Given the description of an element on the screen output the (x, y) to click on. 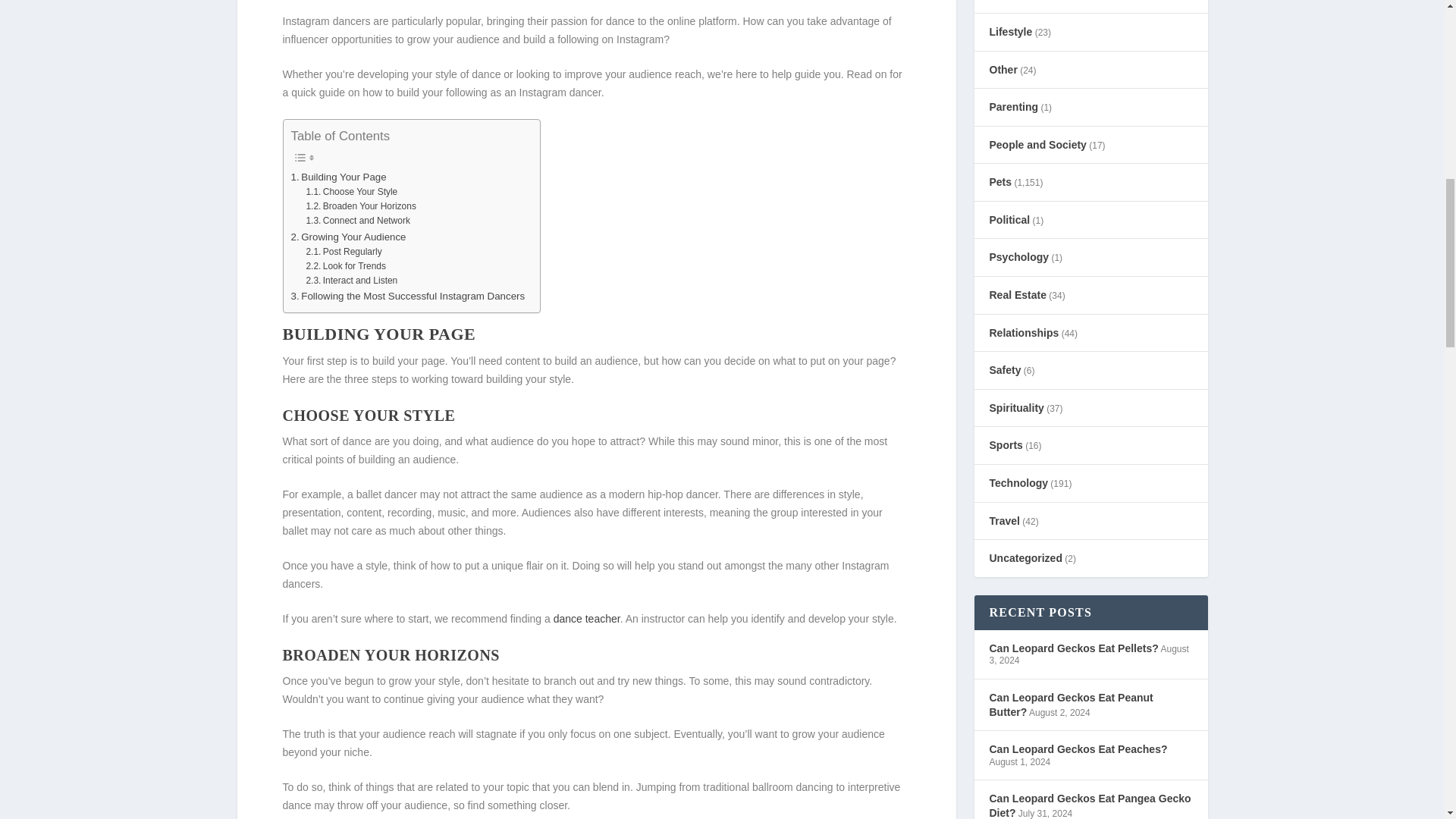
Building Your Page (339, 176)
Look for Trends (345, 266)
Connect and Network (357, 220)
Growing Your Audience (348, 236)
Choose Your Style (351, 192)
Broaden Your Horizons (359, 206)
Interact and Listen (351, 280)
Post Regularly (343, 251)
